Given the description of an element on the screen output the (x, y) to click on. 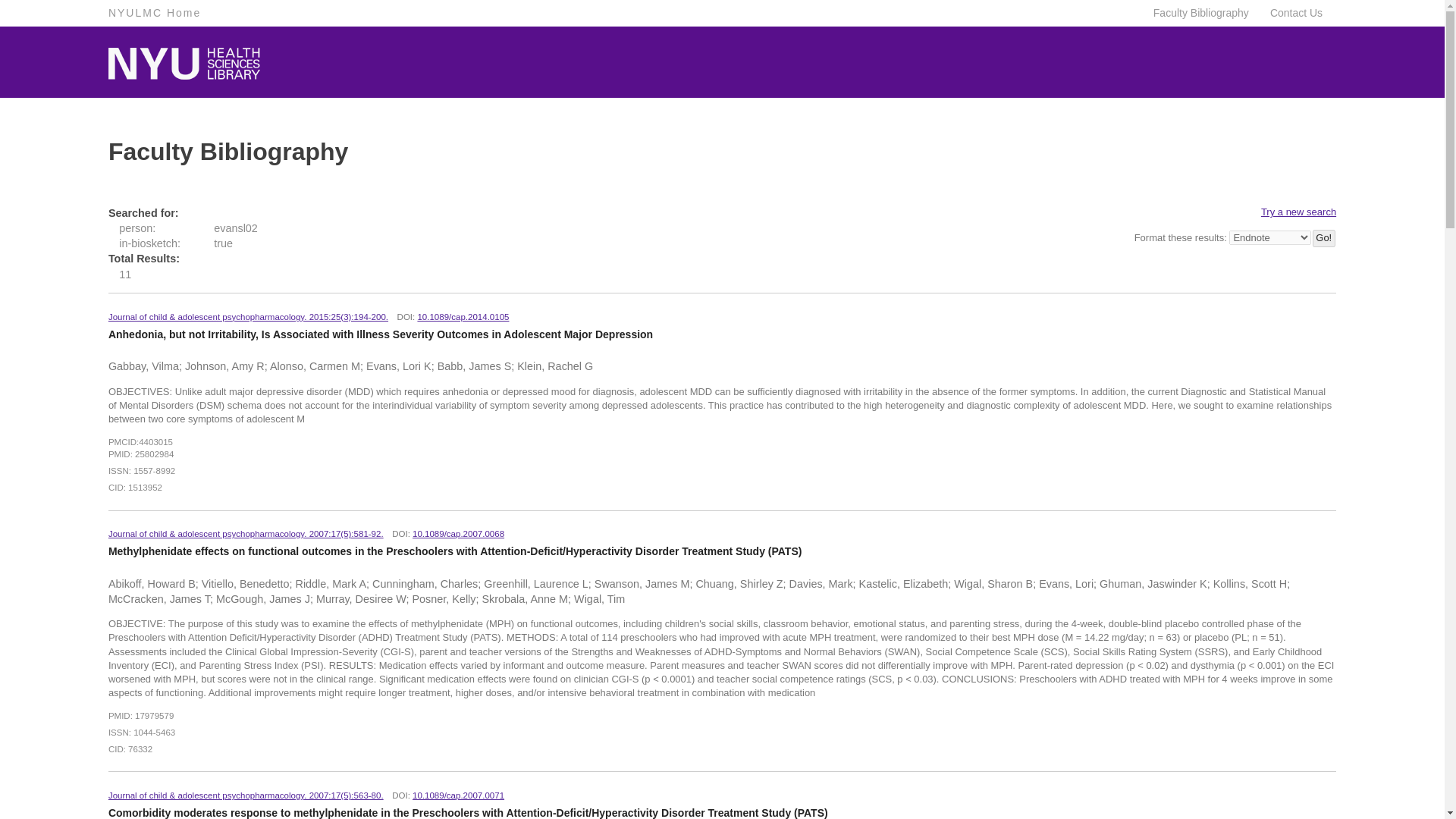
Contact Us (1292, 13)
NYULMC Home (153, 13)
Go! (1324, 238)
Go! (1324, 238)
Try a new search (1298, 211)
Faculty Bibliography (1197, 13)
